Given the description of an element on the screen output the (x, y) to click on. 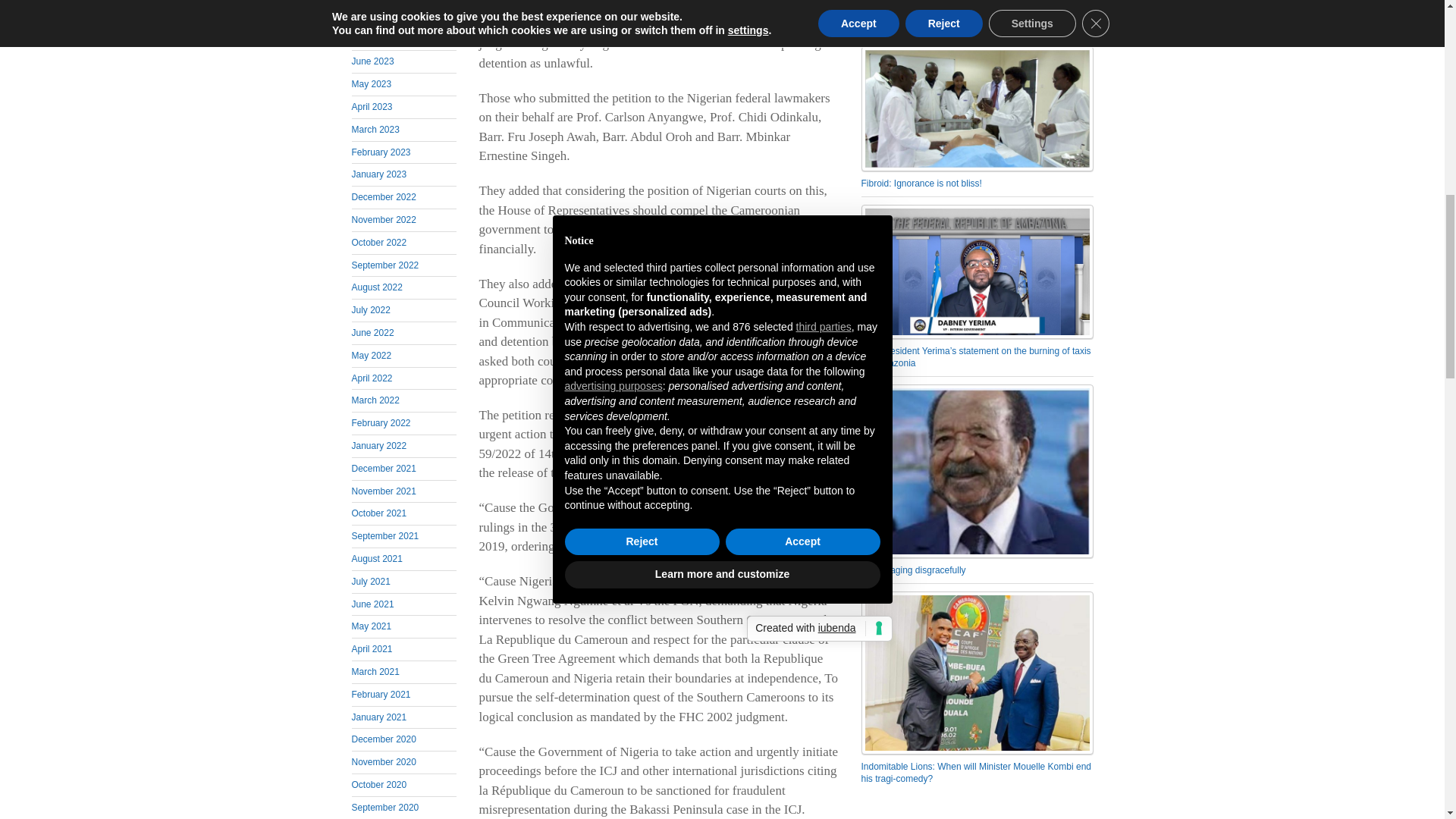
Biya aging disgracefully (977, 470)
Dabney Yerima VP (977, 271)
Fibroid (977, 108)
